Given the description of an element on the screen output the (x, y) to click on. 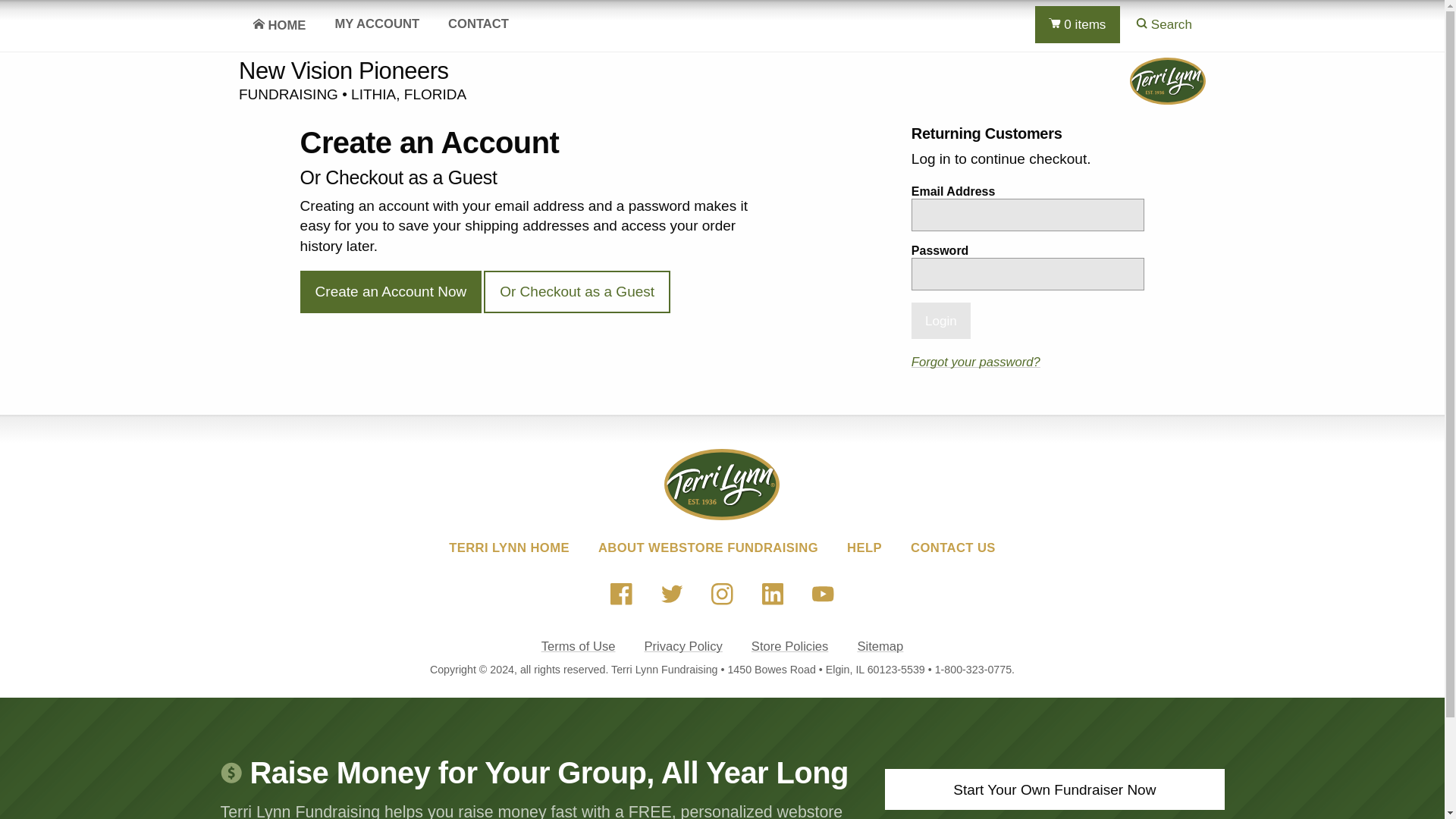
Login (941, 320)
MY ACCOUNT (376, 24)
Follow Terri Lynn Fundraising on Instagram (722, 594)
Forgot your password? (976, 361)
CONTACT (477, 24)
TERRI LYNN HOME (508, 547)
Create an Account Now (390, 291)
Connect with Terri Lynn Fundraising on LinkedIn (772, 594)
Sitemap (879, 646)
Home Page (279, 25)
